Given the description of an element on the screen output the (x, y) to click on. 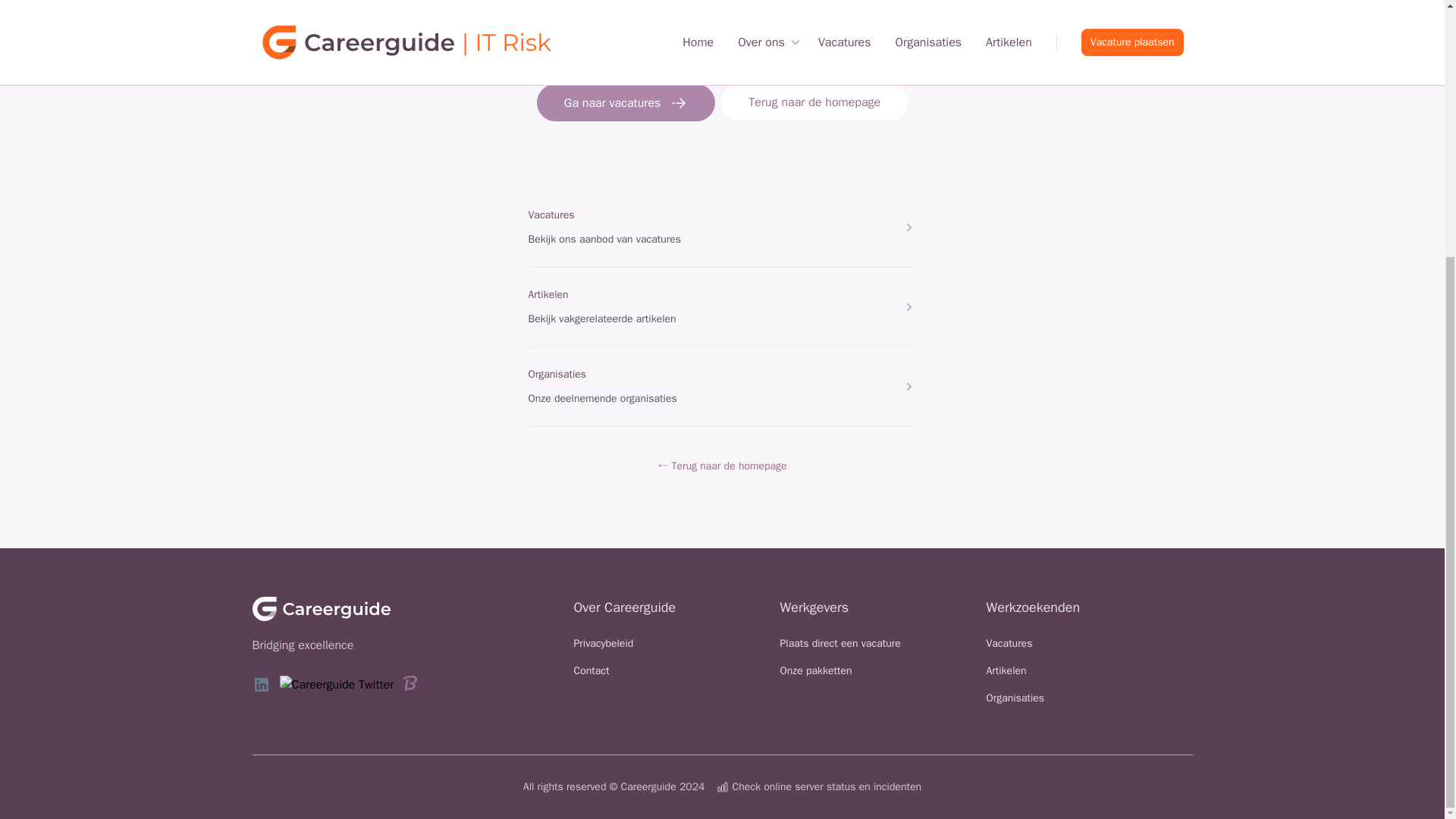
Onze pakketten (814, 670)
Organisaties (556, 373)
Organisaties (1014, 697)
Terug naar de homepage (813, 102)
Vacatures (550, 214)
Plaats direct een vacature (838, 643)
Ga naar vacatures (625, 102)
Contact (590, 670)
Artikelen (547, 294)
Privacybeleid (603, 643)
Artikelen (1005, 670)
Vacatures (1008, 643)
